Given the description of an element on the screen output the (x, y) to click on. 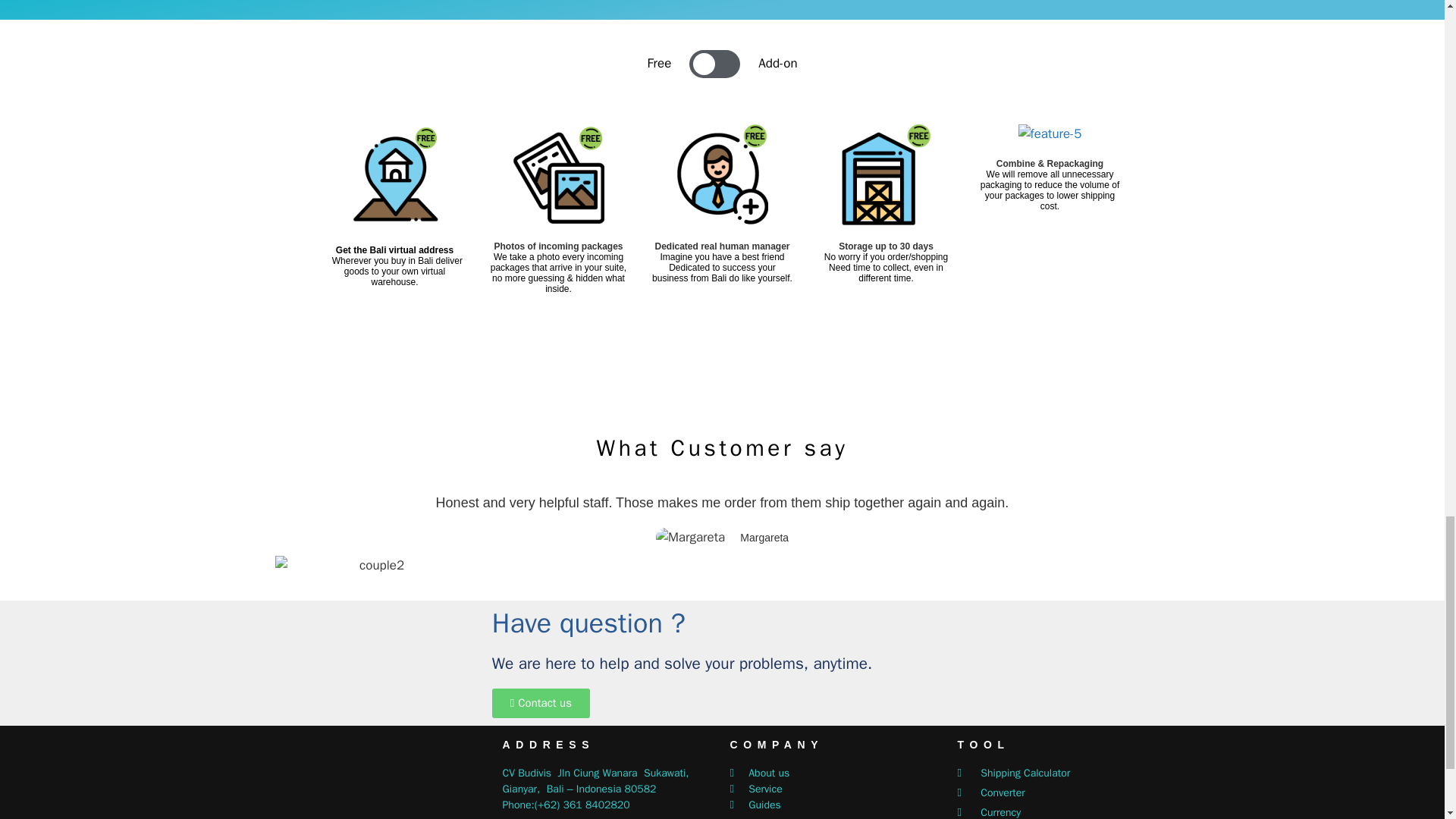
couple2 (375, 565)
Have question ? (588, 623)
Shipping Calculator (1062, 772)
feature-2 (558, 174)
feature-3 (722, 174)
feature-5 (1049, 134)
Contact us (540, 703)
About us (835, 772)
feature-4 (885, 174)
We are here to help and solve your problems, anytime. (682, 663)
